Given the description of an element on the screen output the (x, y) to click on. 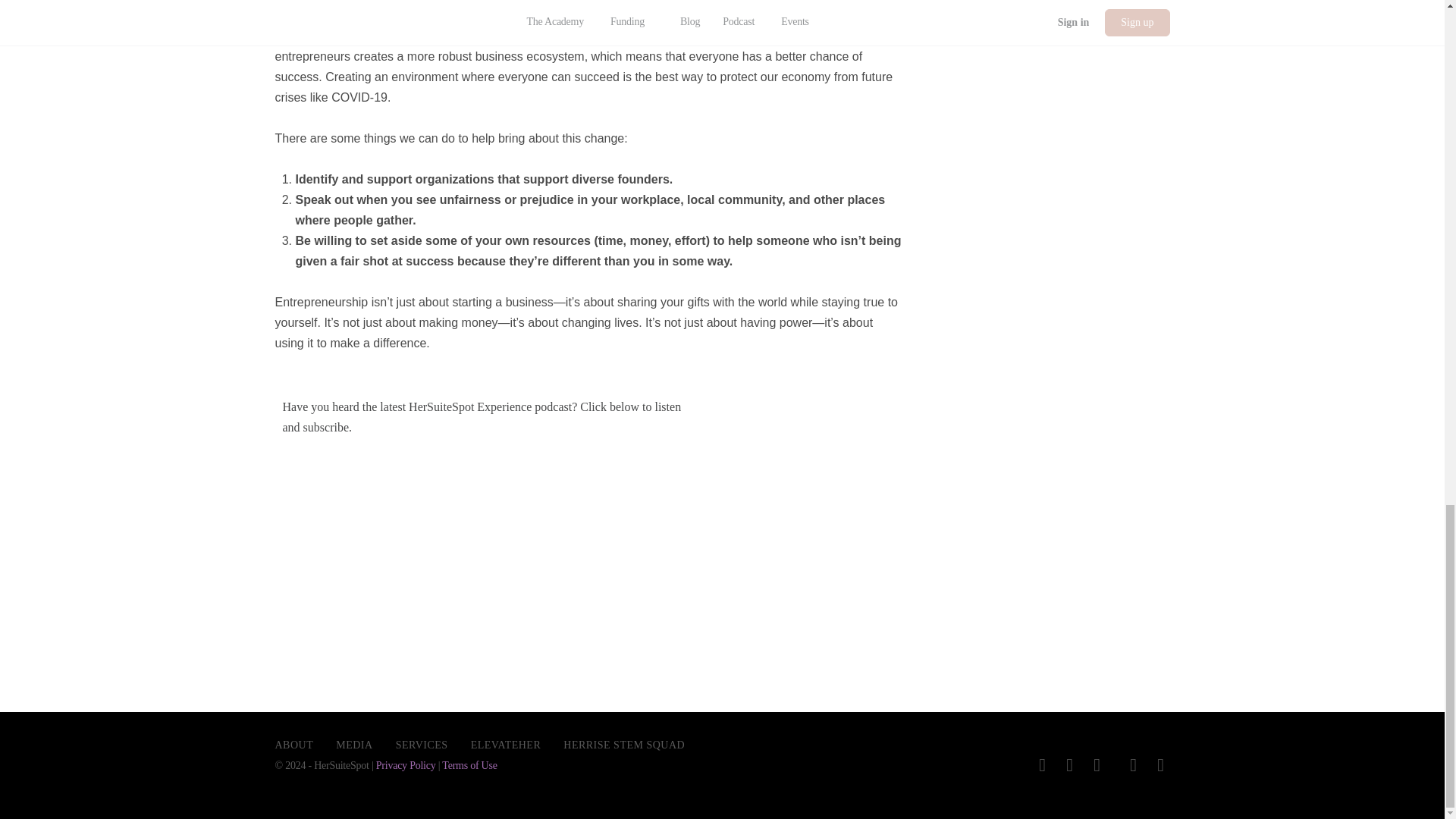
HerSuiteSpot Experience (491, 544)
